Given the description of an element on the screen output the (x, y) to click on. 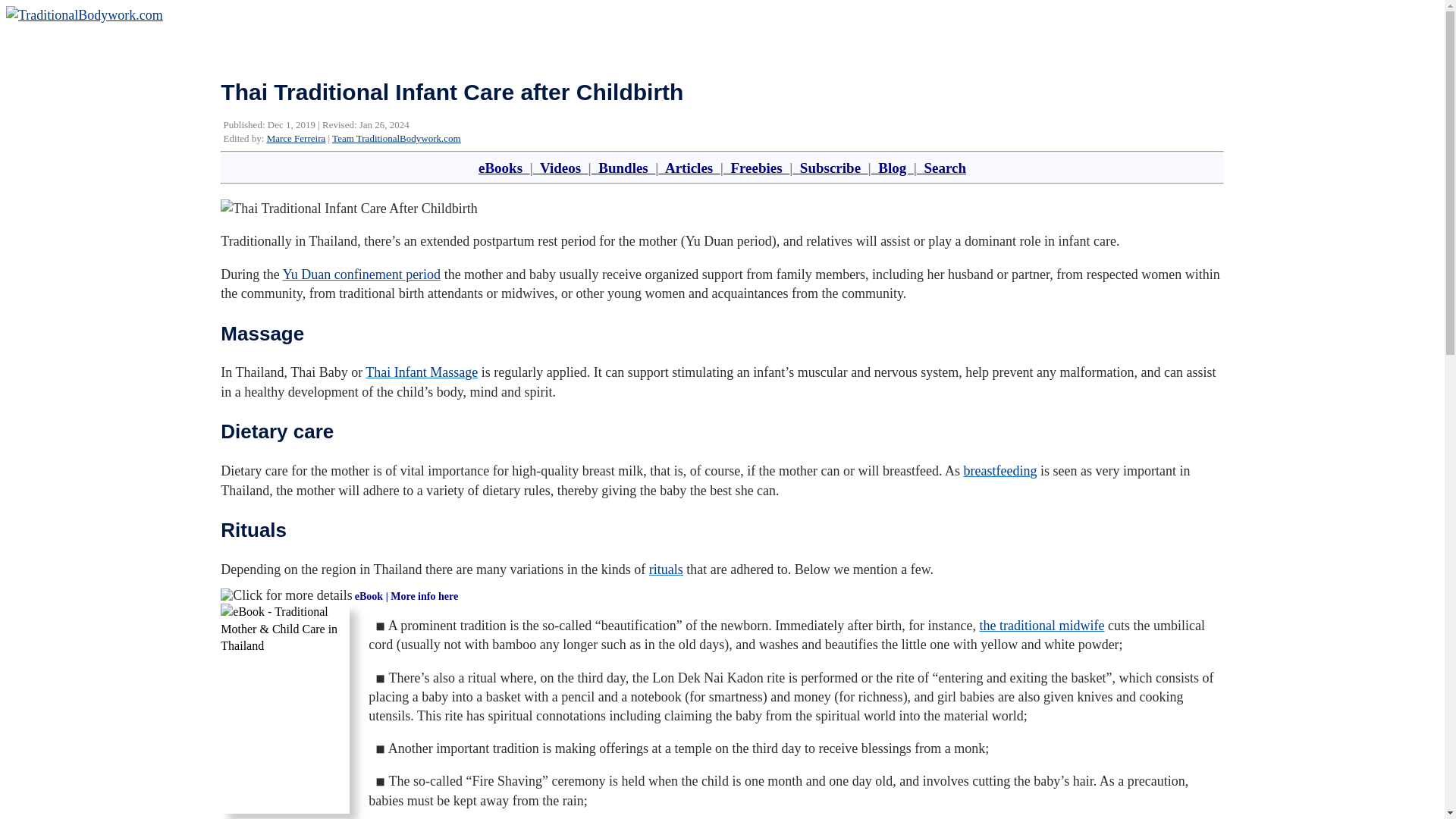
  Freebies   (756, 167)
Thai Infant Massage (421, 372)
rituals (665, 569)
  Blog   (892, 167)
Marce Ferreira (296, 138)
Click for more details (286, 595)
  Search (941, 167)
  Videos   (560, 167)
  Subscribe   (829, 167)
the traditional midwife (1042, 625)
